Given the description of an element on the screen output the (x, y) to click on. 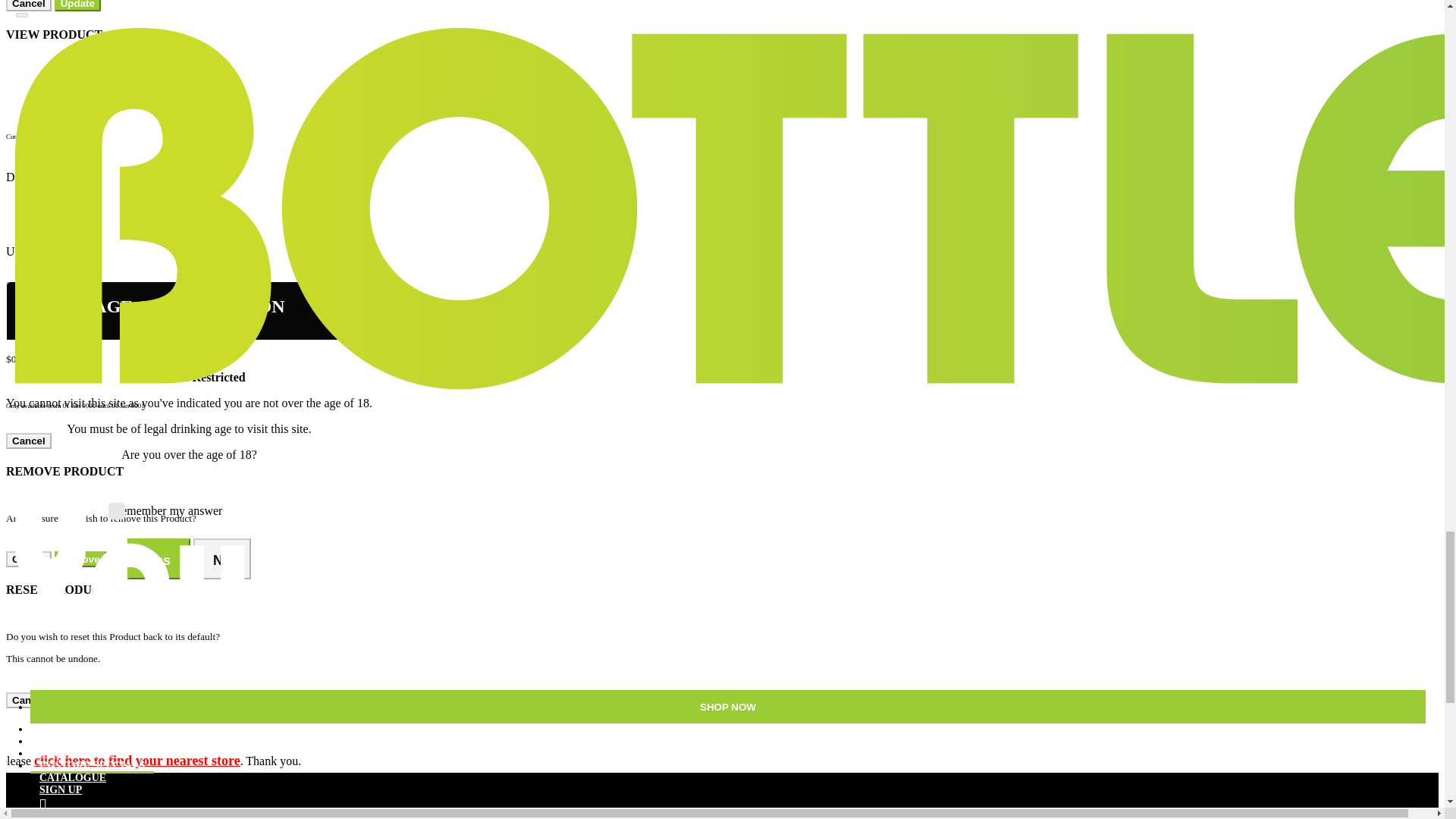
Cancel (27, 700)
Cancel (27, 440)
Remove (80, 559)
Cancel (27, 5)
click here to find your nearest store (136, 760)
Cancel (27, 559)
Reset (74, 700)
Update (77, 5)
